Given the description of an element on the screen output the (x, y) to click on. 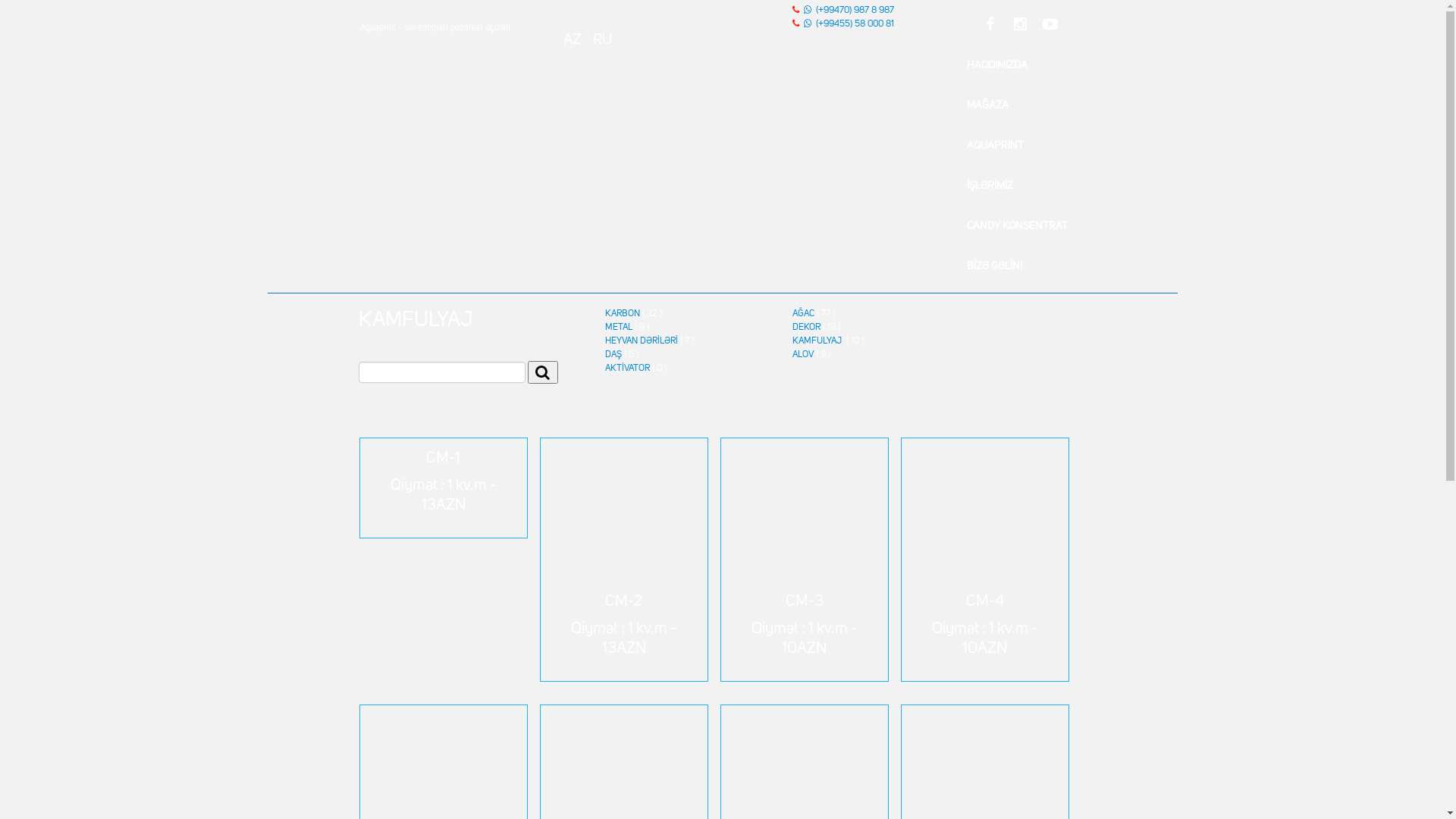
CM-2 Element type: text (622, 526)
CM-3 Element type: text (803, 526)
DEKOR Element type: text (806, 327)
(+99470) 987 8 987 Element type: text (854, 10)
(+99455) 58 000 81 Element type: text (854, 23)
HAQQIMIZDA Element type: text (996, 65)
AZ Element type: text (572, 37)
KARBON Element type: text (622, 313)
CM-4 Element type: text (983, 526)
ALOV Element type: text (802, 354)
AQUAPRINT Element type: text (995, 145)
RU Element type: text (602, 37)
CANDY KONSENTRAT Element type: text (1017, 225)
CM-1 Element type: text (442, 454)
METAL Element type: text (618, 327)
KAMFULYAJ  Element type: text (818, 340)
